Given the description of an element on the screen output the (x, y) to click on. 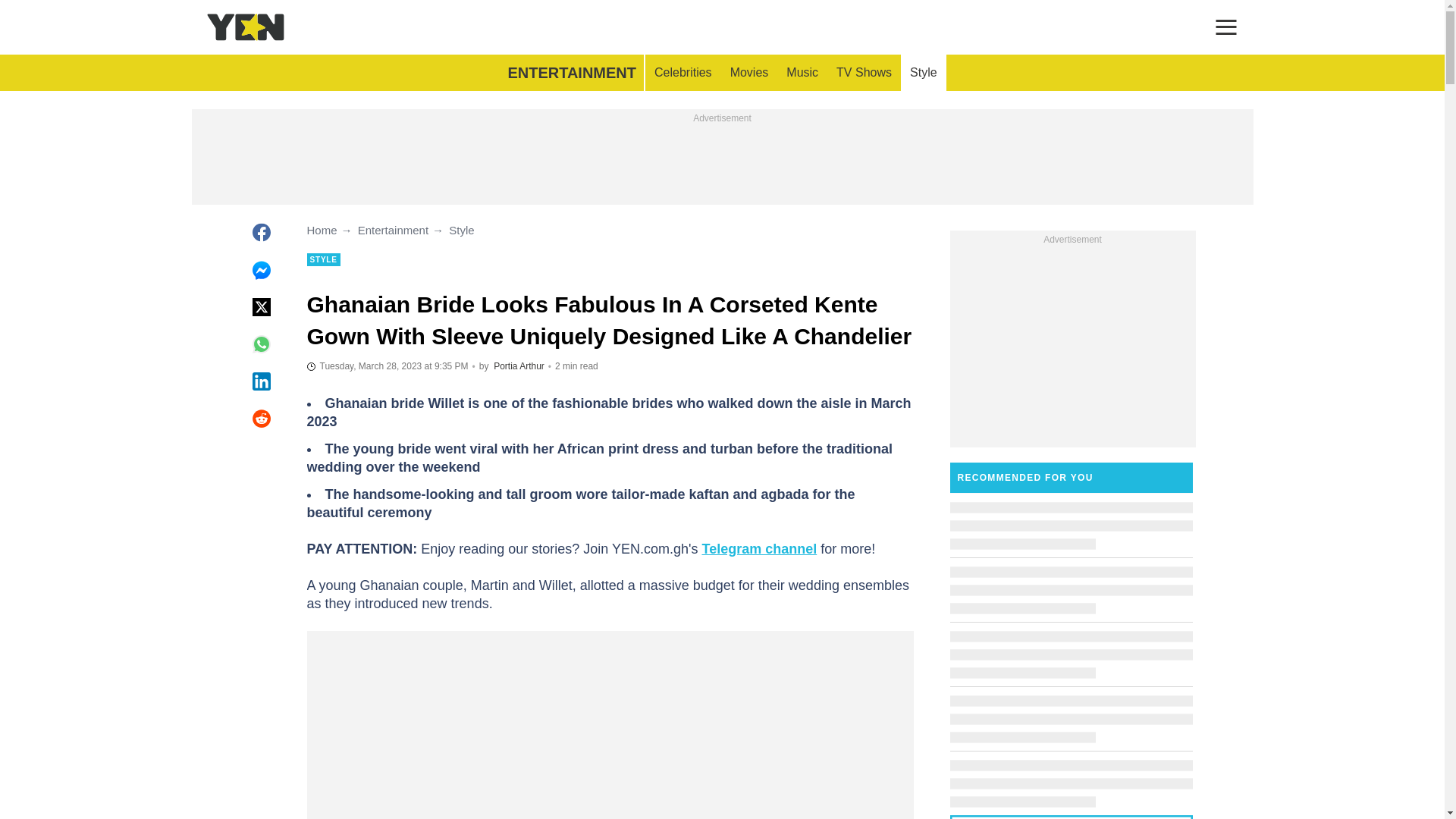
2023-03-28T21:35:45Z (386, 366)
Celebrities (682, 72)
Movies (748, 72)
Style (923, 72)
Author page (518, 366)
TV Shows (864, 72)
Music (802, 72)
ENTERTAINMENT (571, 72)
